Given the description of an element on the screen output the (x, y) to click on. 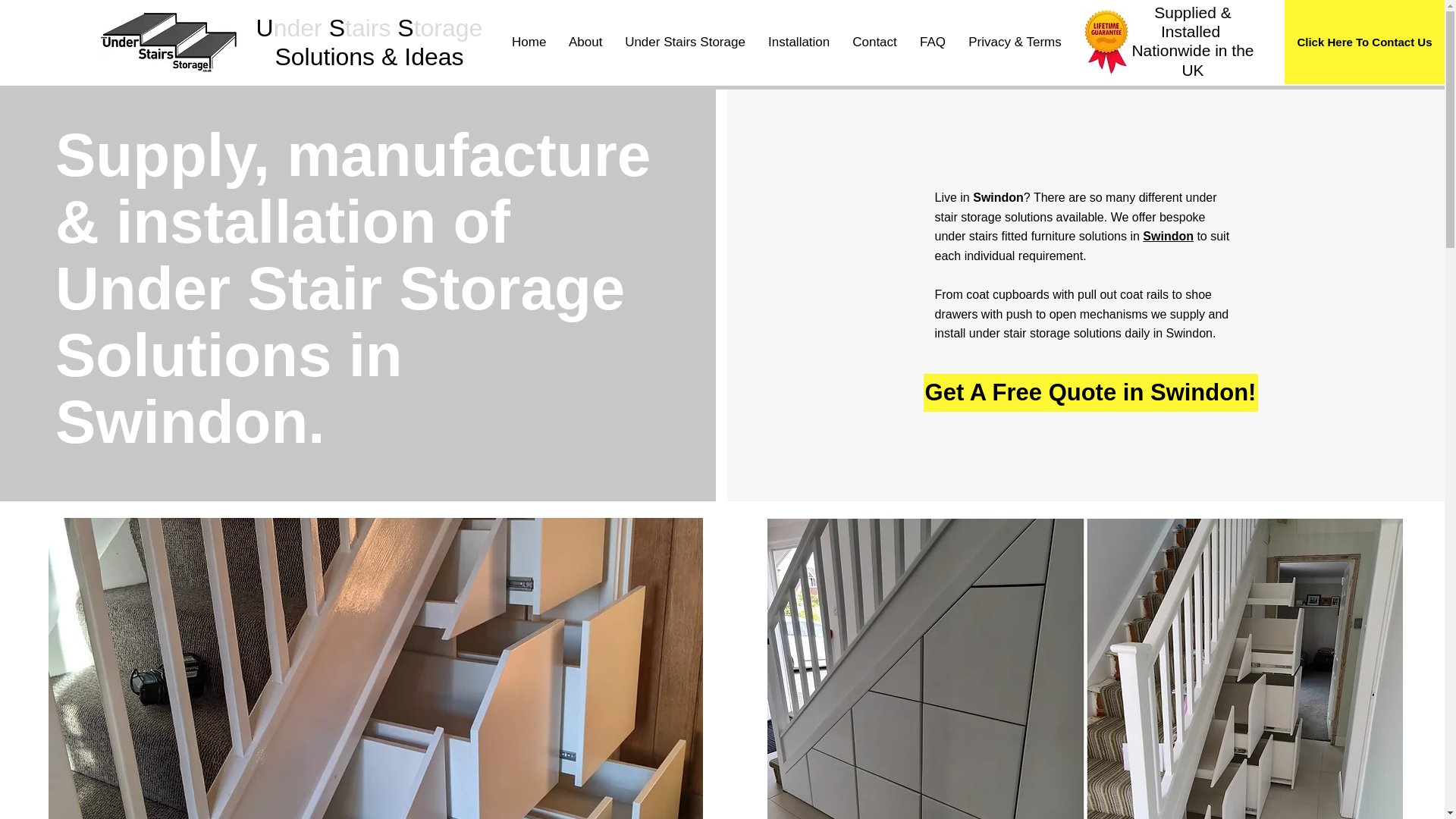
Installation (799, 42)
Under Stairs Storage Solutions and Ideas (168, 41)
Swindon (1167, 236)
Get A Free Quote in Swindon! (1090, 392)
Home (528, 42)
Contact (874, 42)
Under Stairs Storage (684, 42)
FAQ (932, 42)
About (584, 42)
